Given the description of an element on the screen output the (x, y) to click on. 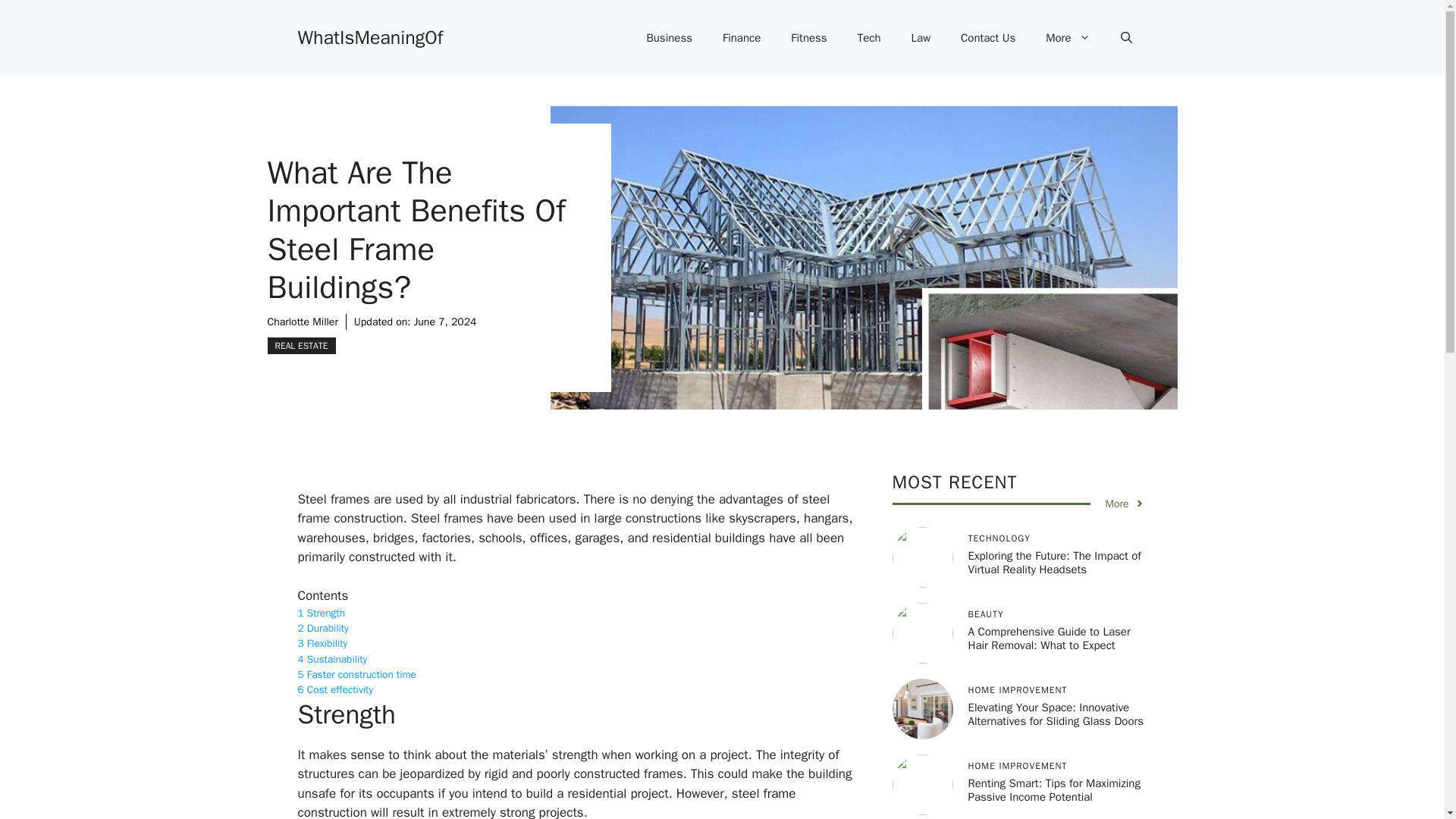
WhatIsMeaningOf (369, 37)
4 Sustainability (331, 658)
REAL ESTATE (300, 345)
6 Cost effectivity (334, 689)
Law (920, 37)
Charlotte Miller (301, 321)
1 Strength (320, 612)
More (1124, 503)
Tech (869, 37)
2 Durability (322, 627)
